Given the description of an element on the screen output the (x, y) to click on. 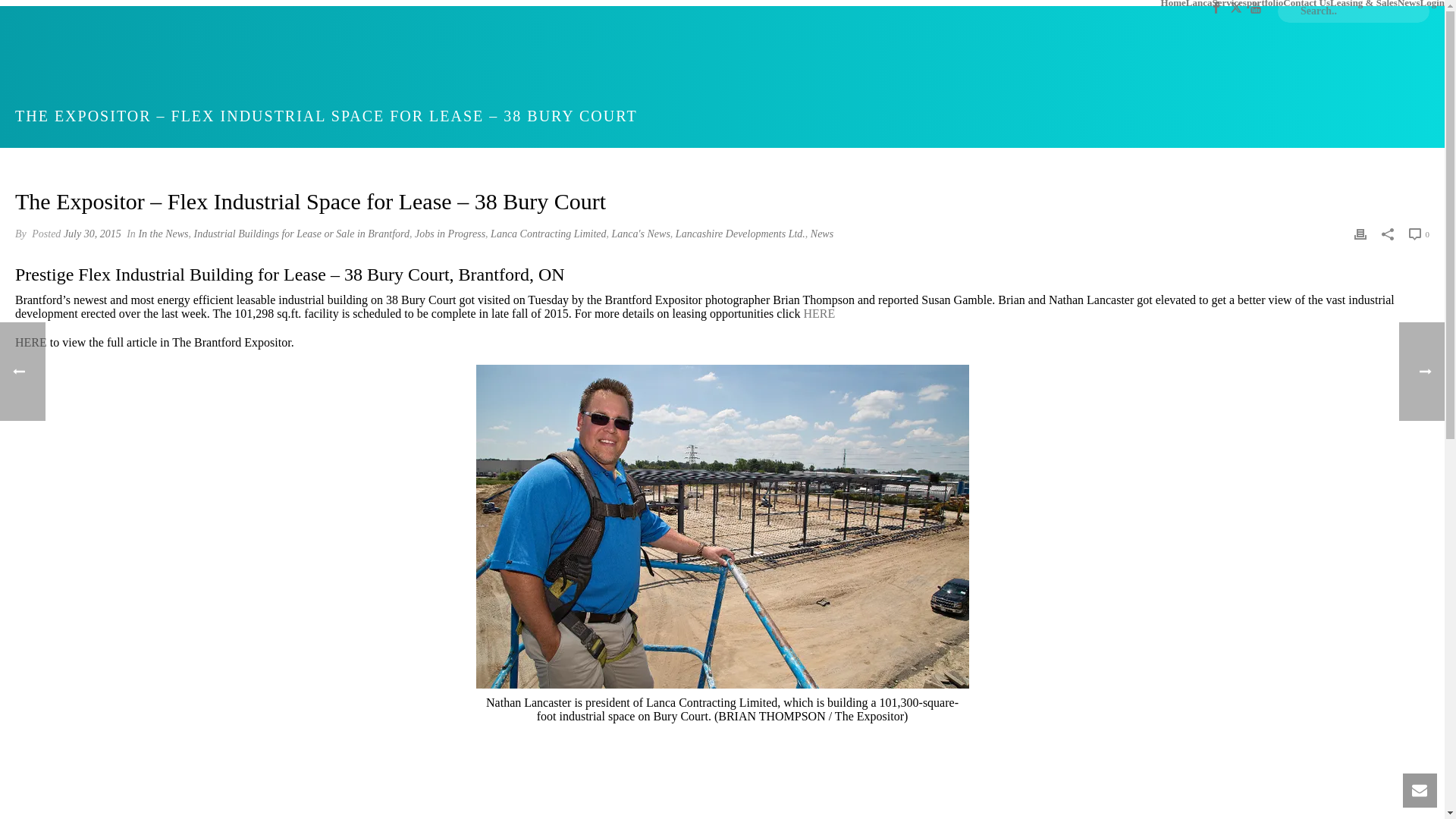
portfolio (1264, 2)
Lanca (1199, 2)
Contact Us (1306, 2)
Services (1228, 2)
Lanca (1199, 2)
Services (1228, 2)
News (1409, 2)
Contact Us (1306, 2)
Home (1173, 2)
portfolio (1264, 2)
Home (1173, 2)
News (1409, 2)
